Given the description of an element on the screen output the (x, y) to click on. 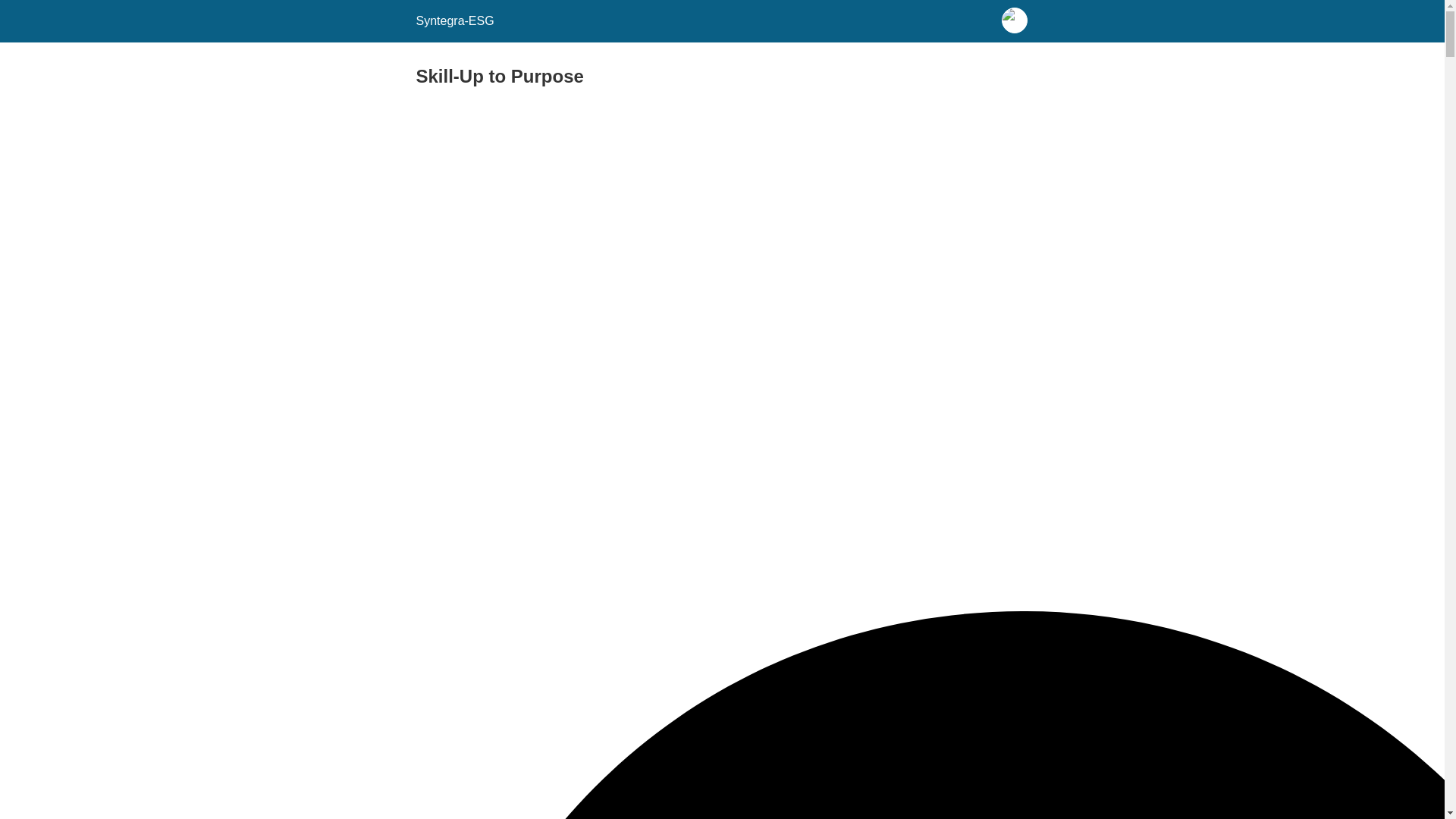
Syntegra-ESG (453, 20)
